Given the description of an element on the screen output the (x, y) to click on. 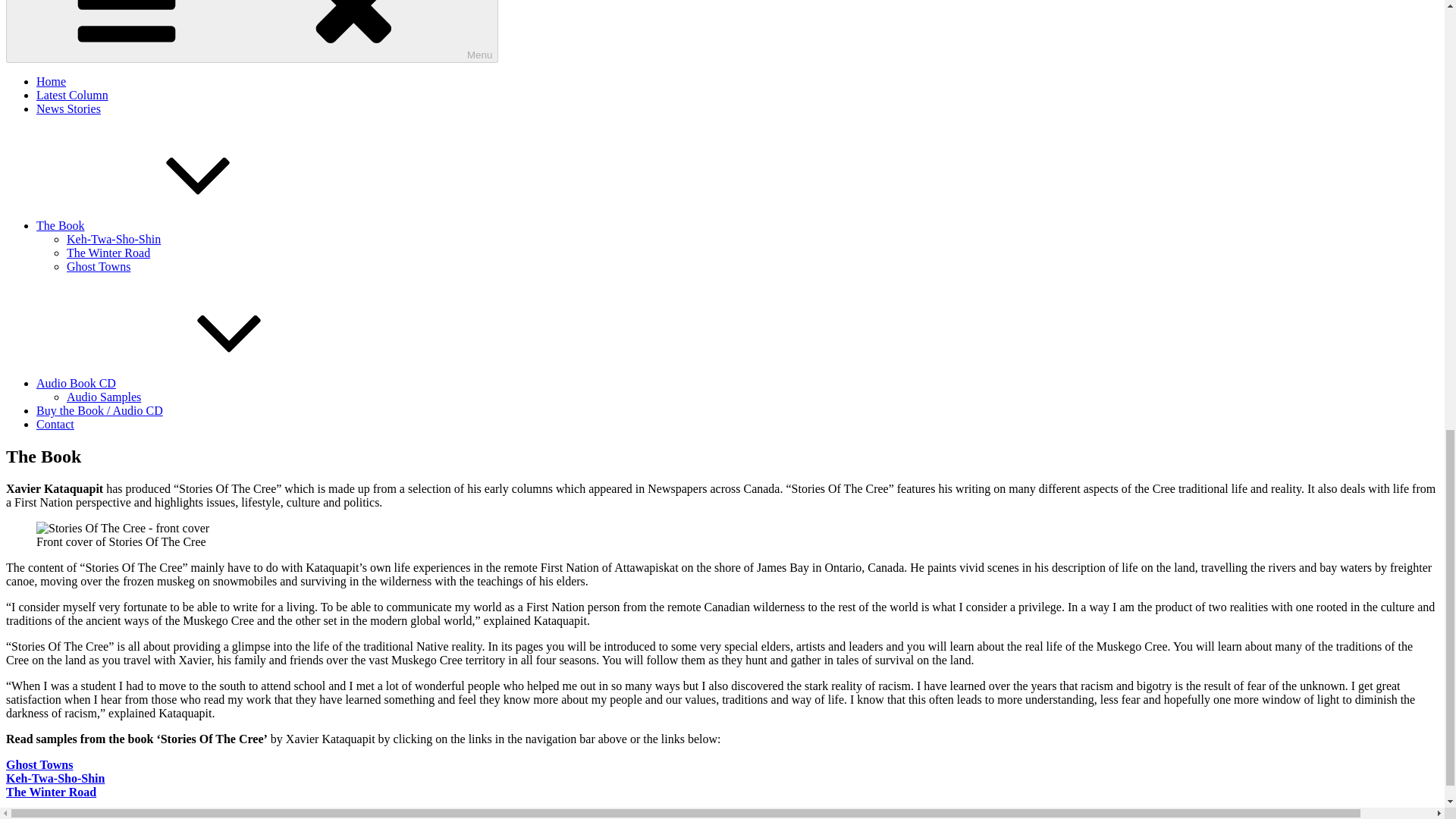
The Winter Road (50, 791)
Keh-Twa-Sho-Shin (113, 238)
Ghost Towns (98, 266)
Contact (55, 423)
Audio Book CD (189, 382)
Home (50, 81)
Keh-Twa-Sho-Shin (54, 778)
Ghost Towns (39, 764)
The Winter Road (50, 791)
News Stories (68, 108)
